Given the description of an element on the screen output the (x, y) to click on. 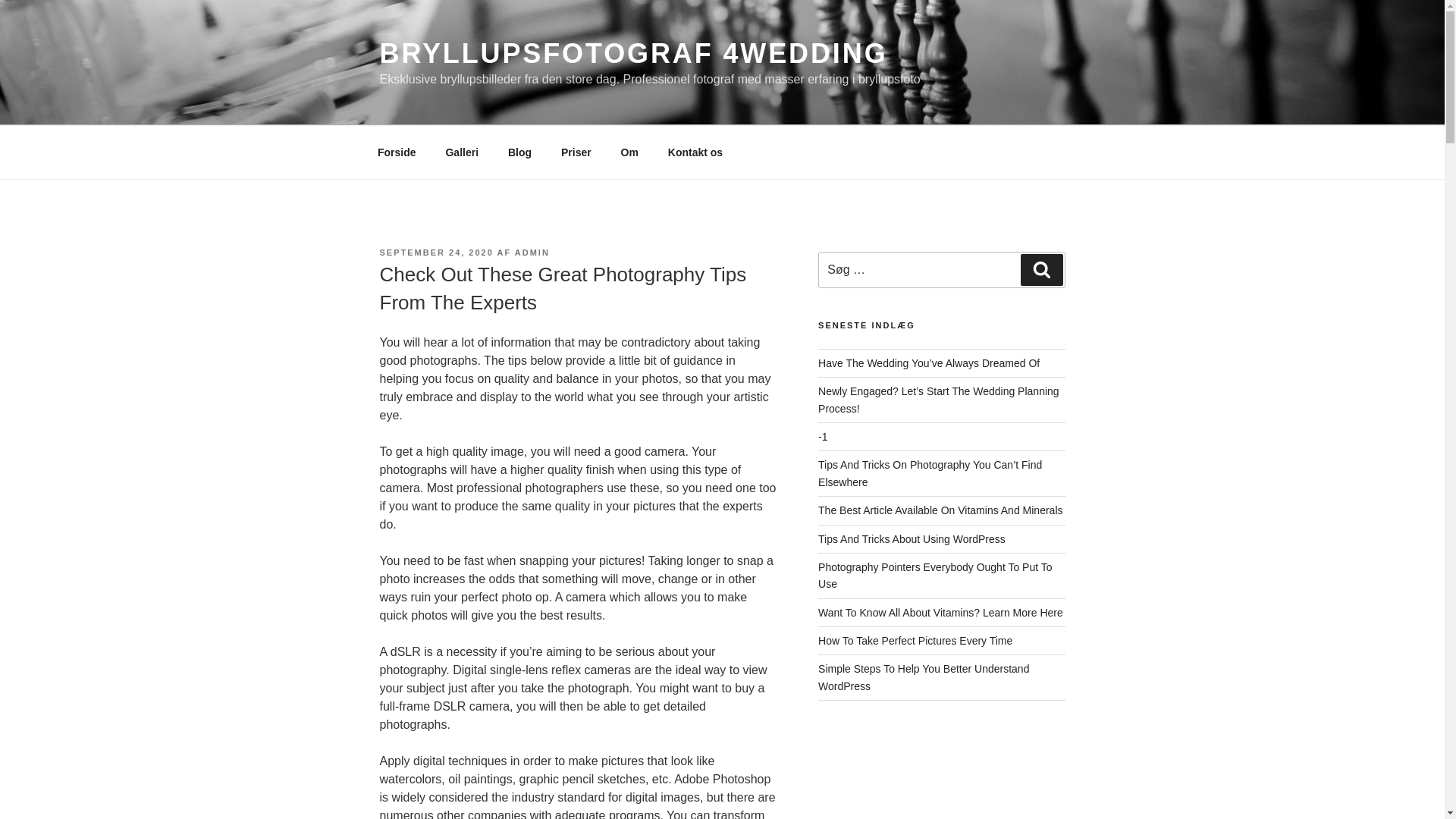
Om (628, 151)
Photography Pointers Everybody Ought To Put To Use (934, 575)
How To Take Perfect Pictures Every Time (914, 640)
Kontakt os (694, 151)
Blog (519, 151)
ADMIN (532, 252)
Want To Know All About Vitamins? Learn More Here (940, 612)
BRYLLUPSFOTOGRAF 4WEDDING (632, 52)
Forside (396, 151)
Priser (575, 151)
